Given the description of an element on the screen output the (x, y) to click on. 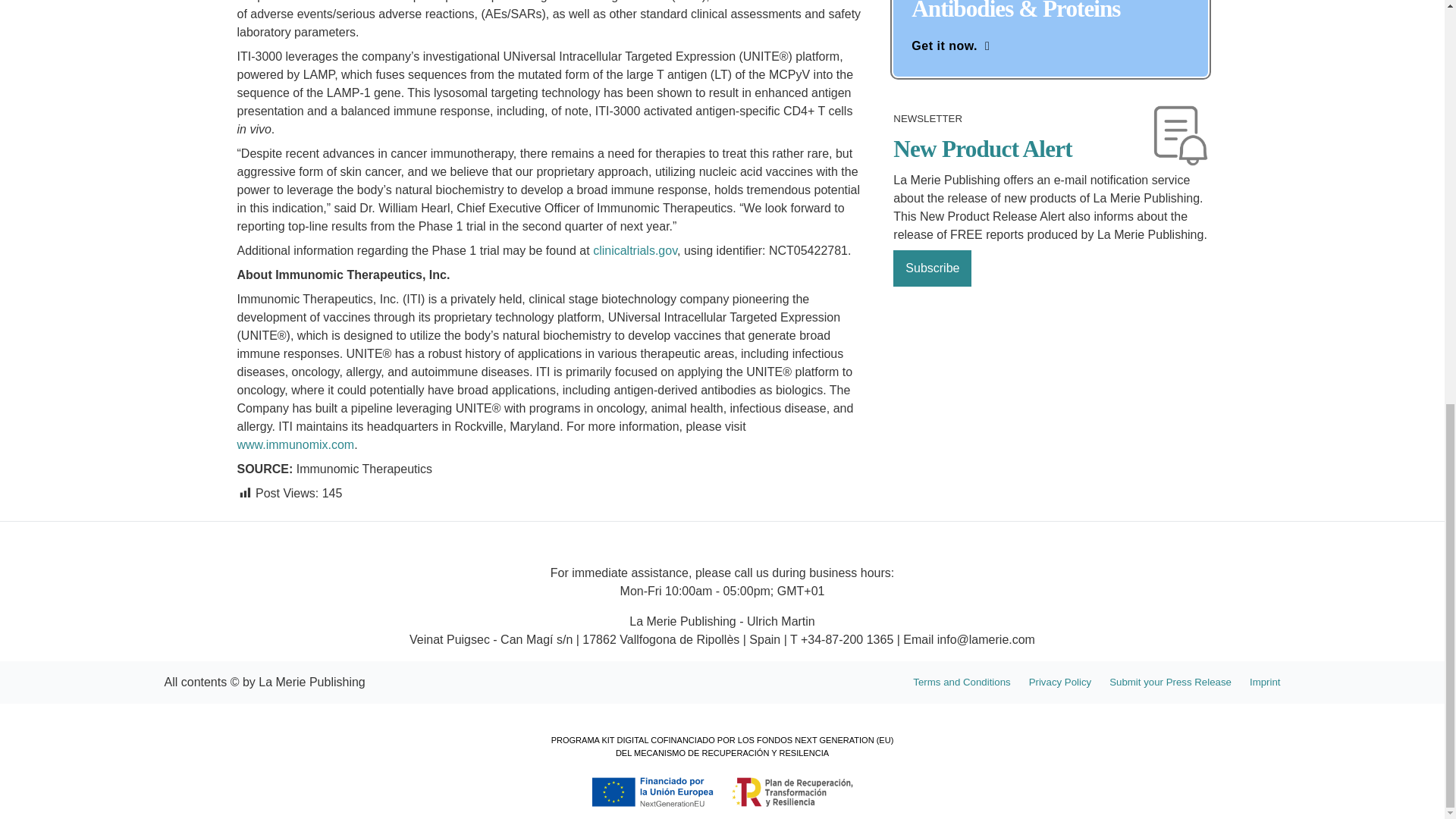
www.immunomix.com (294, 444)
clinicaltrials.gov (634, 250)
